Given the description of an element on the screen output the (x, y) to click on. 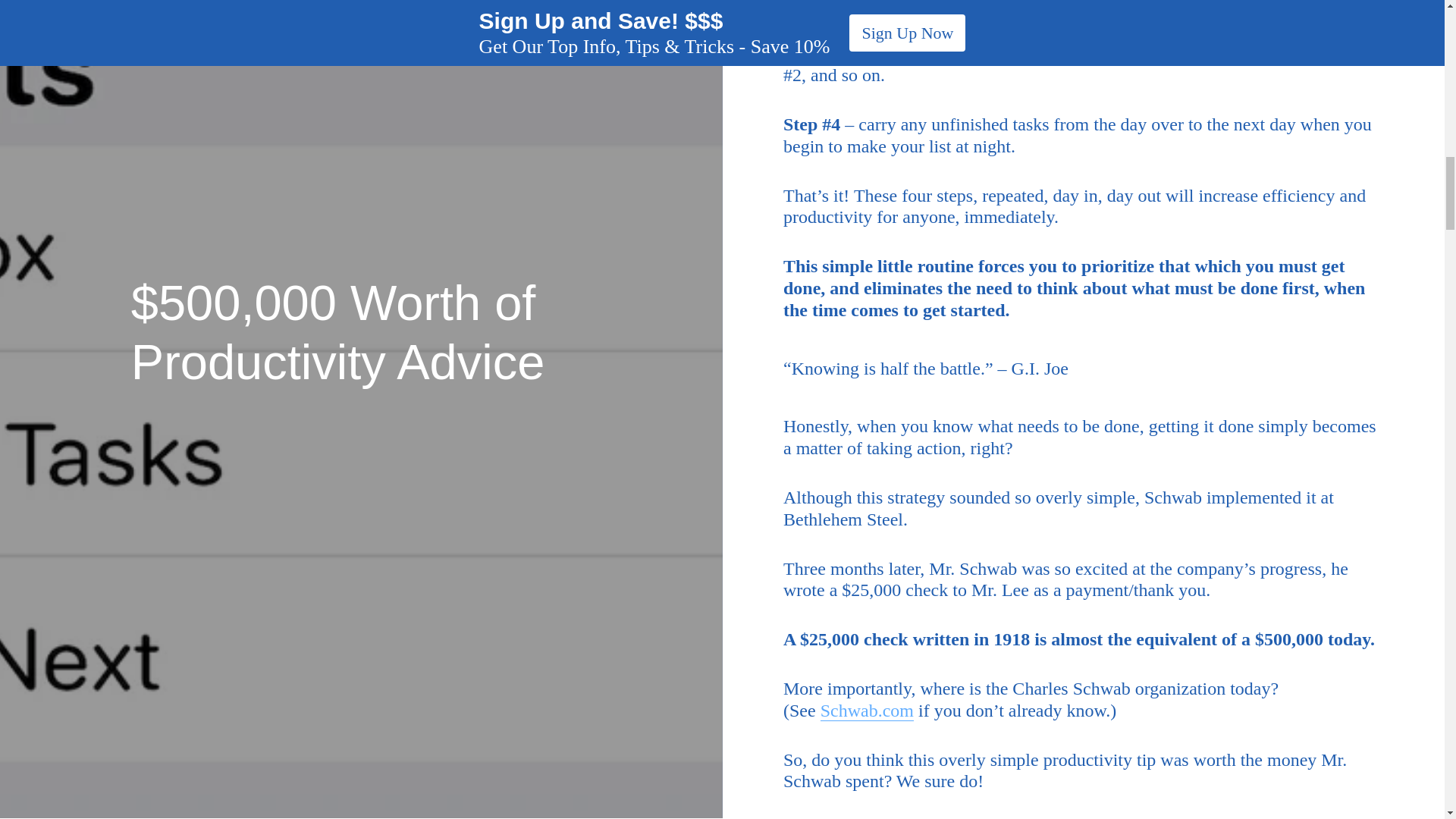
Schwab.com (867, 711)
